Given the description of an element on the screen output the (x, y) to click on. 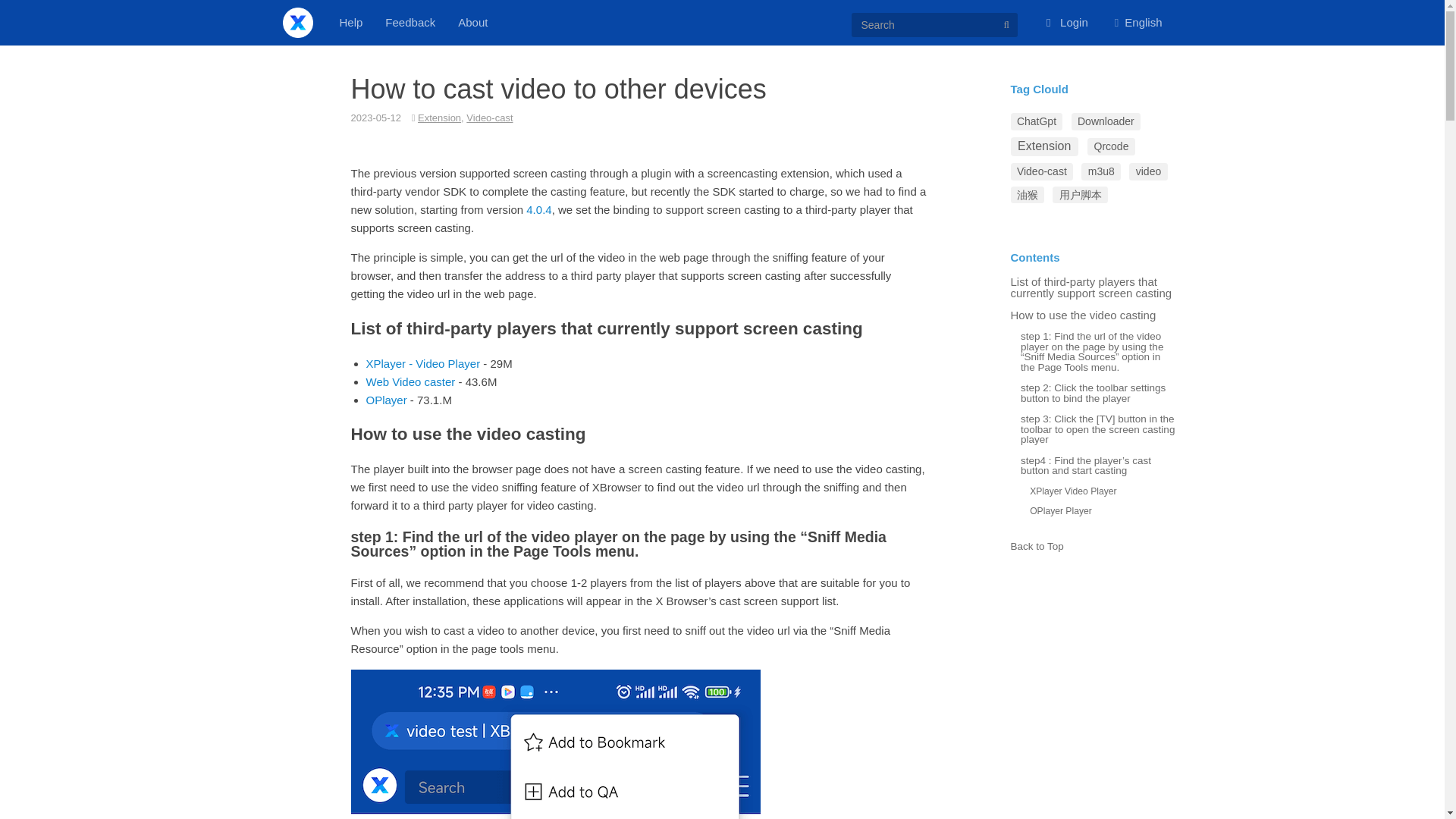
About (472, 22)
4.0.4 (538, 209)
Help (350, 22)
Extension (439, 117)
Web Video caster (409, 380)
Feedback (410, 22)
OPlayer (385, 399)
Video-cast (488, 117)
XBrowser (297, 22)
   Login (1067, 22)
